Given the description of an element on the screen output the (x, y) to click on. 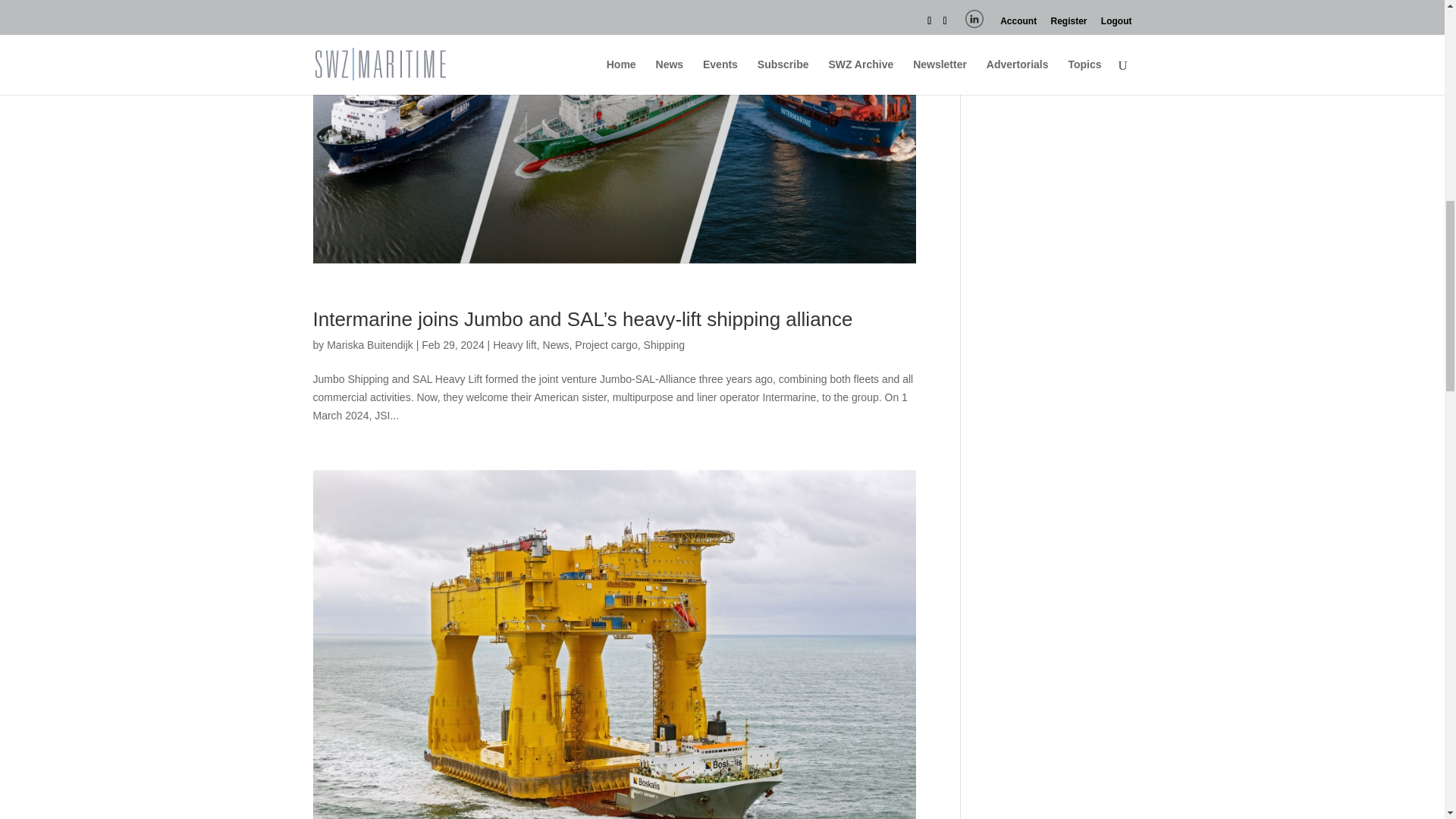
Mariska Buitendijk (369, 345)
Posts by Mariska Buitendijk (369, 345)
Heavy lift (515, 345)
